Given the description of an element on the screen output the (x, y) to click on. 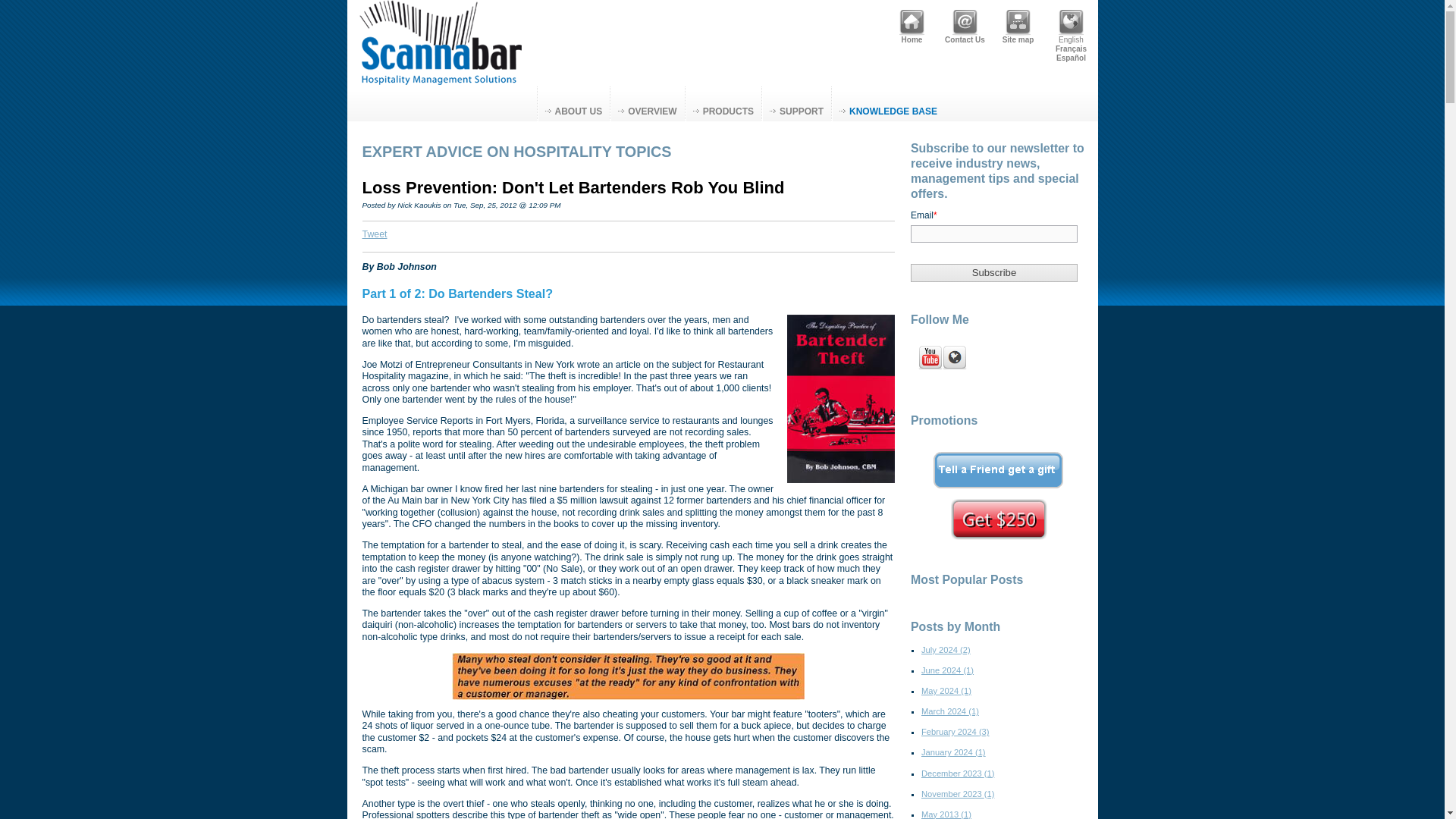
Follow us on YouTube (930, 357)
OVERVIEW (647, 103)
SUPPORT (796, 103)
Home (911, 22)
Loss Prevention: Don't Let Bartenders Rob You Blind (573, 187)
Contact Us (964, 22)
English (1070, 22)
PRODUCTS (722, 103)
ABOUT US (573, 103)
Tweet (374, 234)
KNOWLEDGE BASE (887, 103)
Site map (1017, 22)
Subscribe (994, 272)
